Given the description of an element on the screen output the (x, y) to click on. 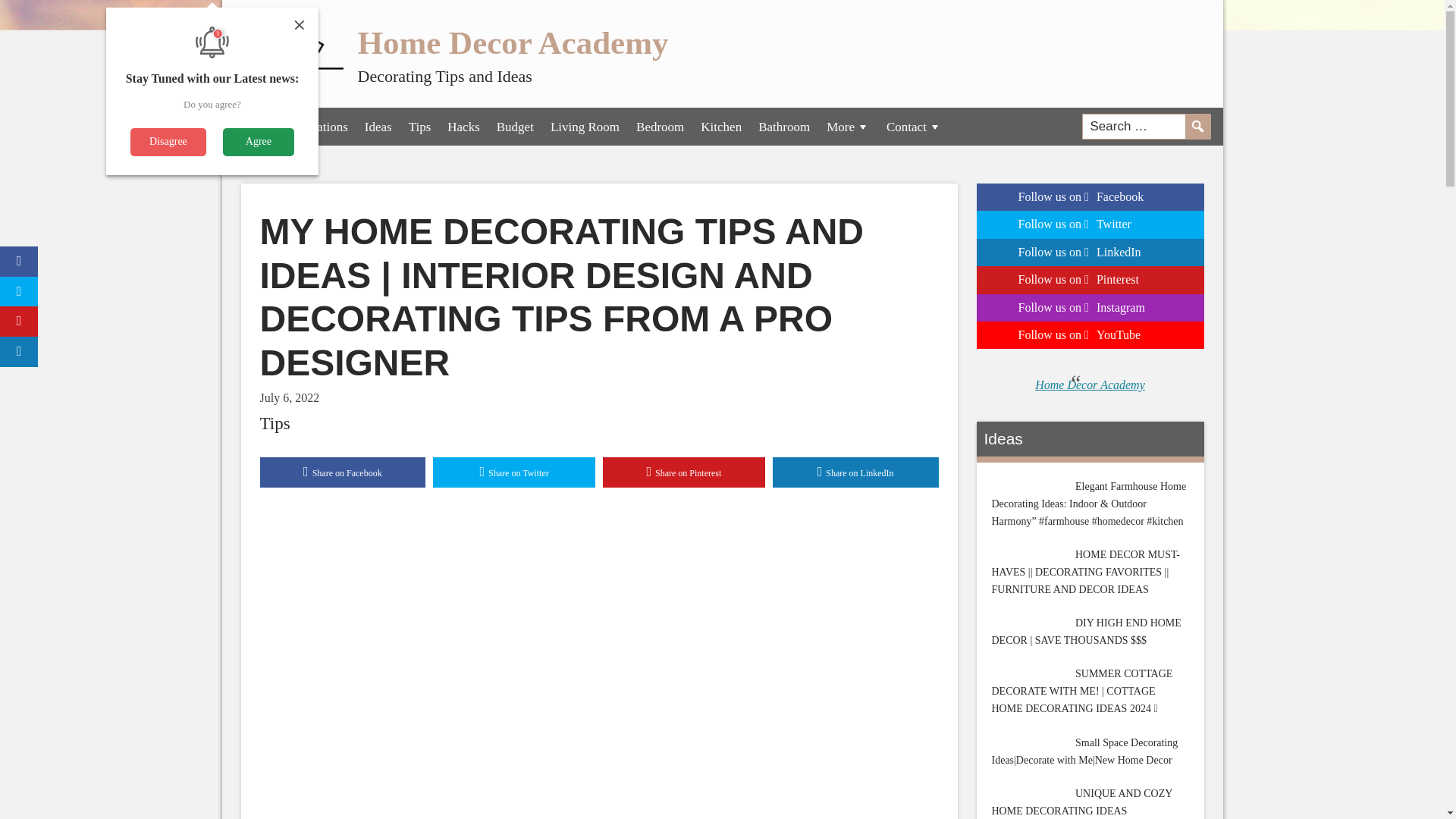
Bathroom (783, 126)
Ideas (378, 126)
Home Decor Academy (513, 42)
Budget (514, 126)
Hacks (463, 126)
Tips (274, 423)
Inspirations (317, 126)
More (847, 126)
Living Room (584, 126)
Bedroom (660, 126)
Tips (419, 126)
Kitchen (721, 126)
